Given the description of an element on the screen output the (x, y) to click on. 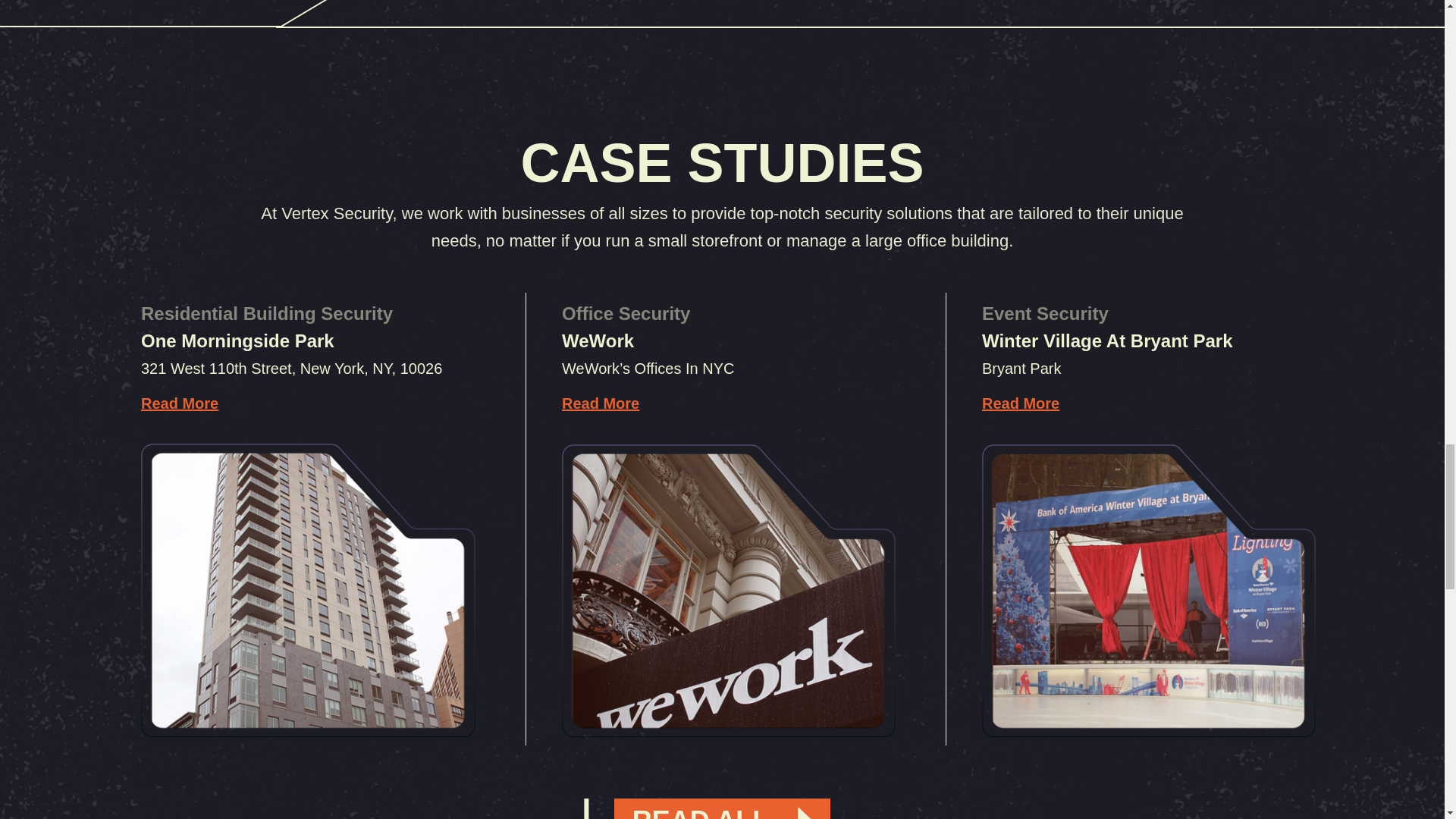
WeWork (597, 340)
Winter Village at Bryant Park (1107, 340)
Read More (179, 402)
WeWork (728, 589)
One Morningside Park (308, 589)
One Morningside Park (237, 340)
One Morningside Park (237, 340)
Winter Village at Bryant Park (1148, 589)
